Given the description of an element on the screen output the (x, y) to click on. 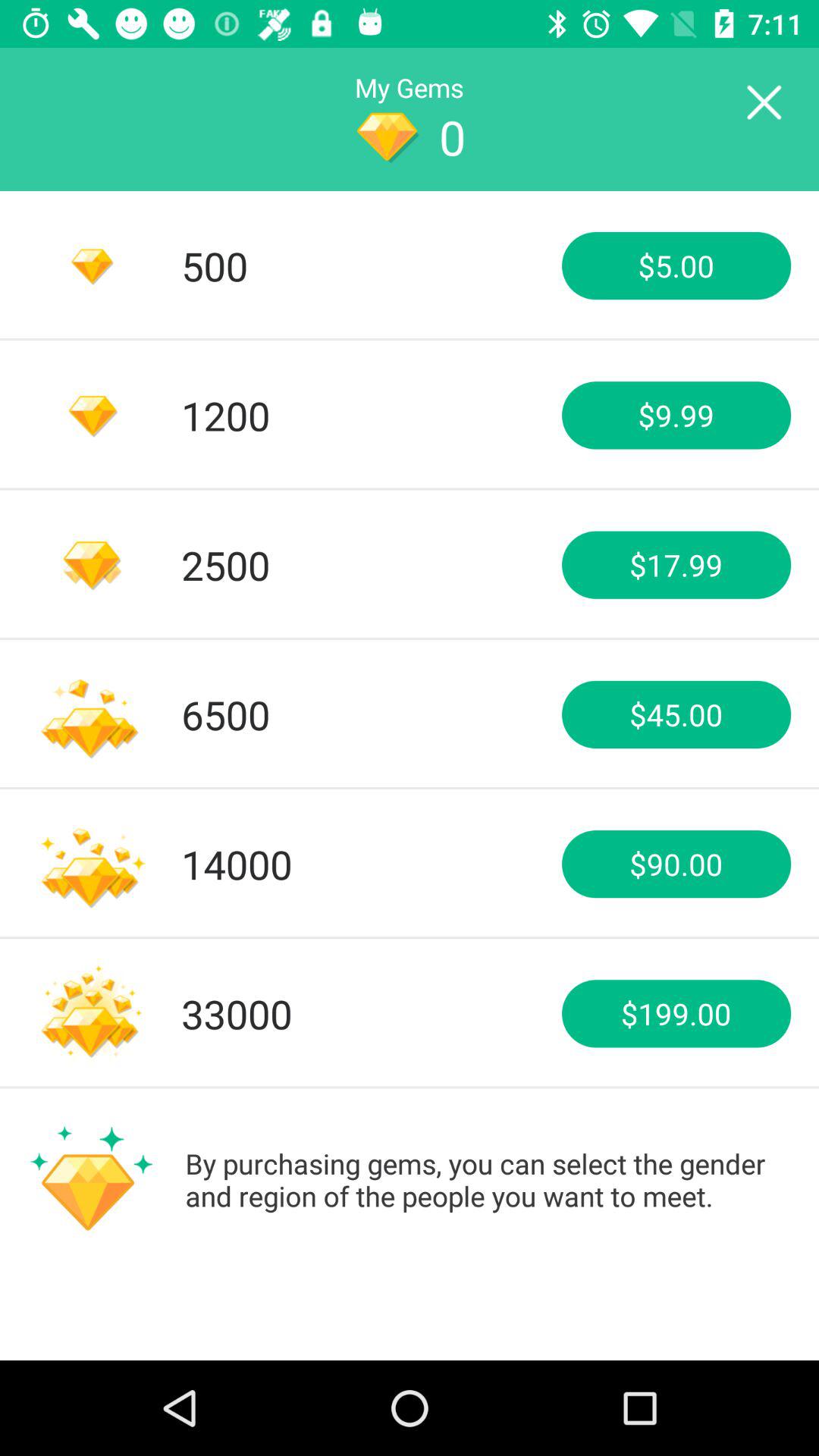
back (763, 103)
